Given the description of an element on the screen output the (x, y) to click on. 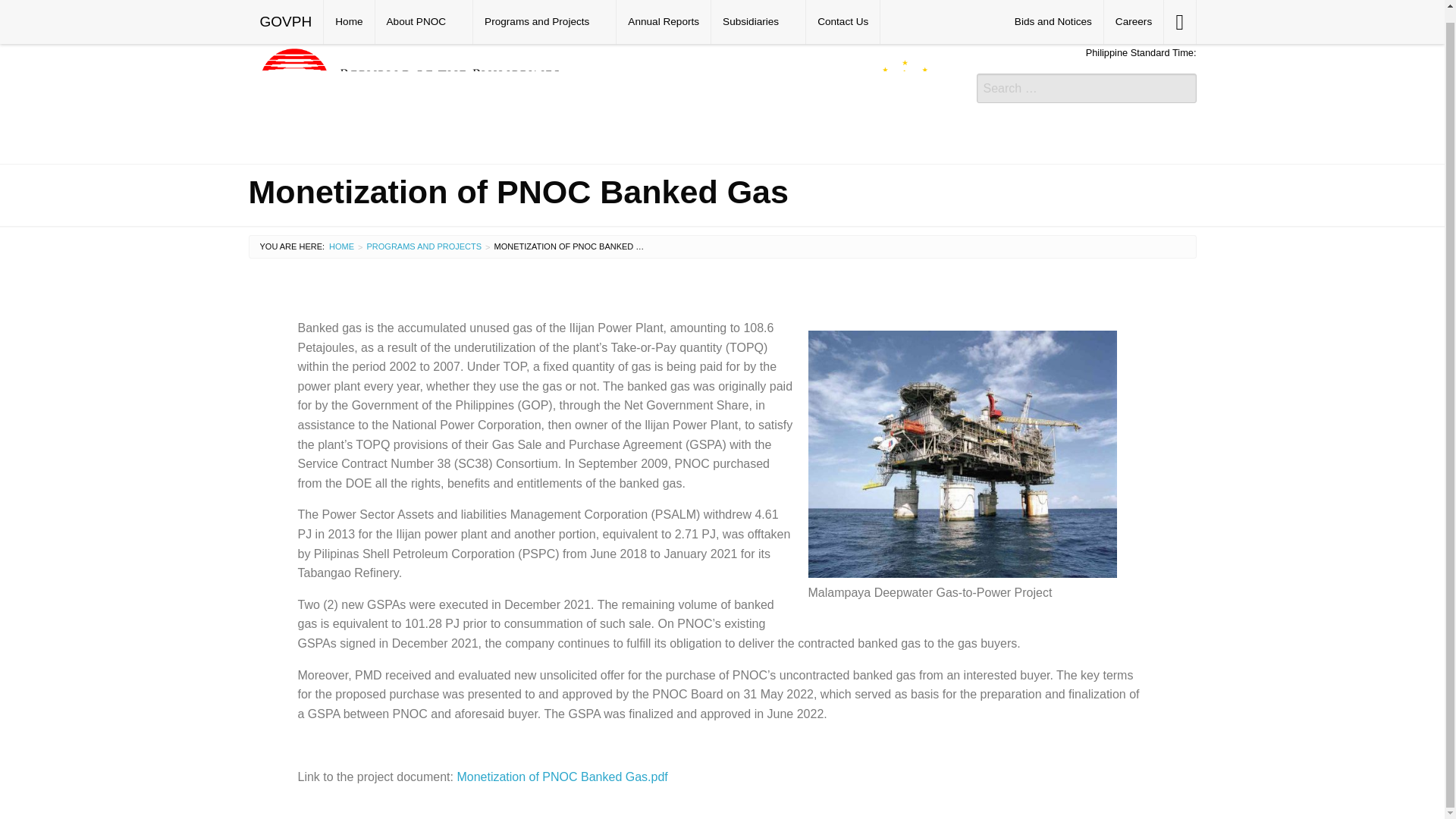
PNOC (600, 94)
GOVPH (285, 15)
About PNOC (424, 15)
Programs and Projects (423, 245)
View this pdf file (675, 776)
Home (348, 15)
Search for: (1086, 88)
